Given the description of an element on the screen output the (x, y) to click on. 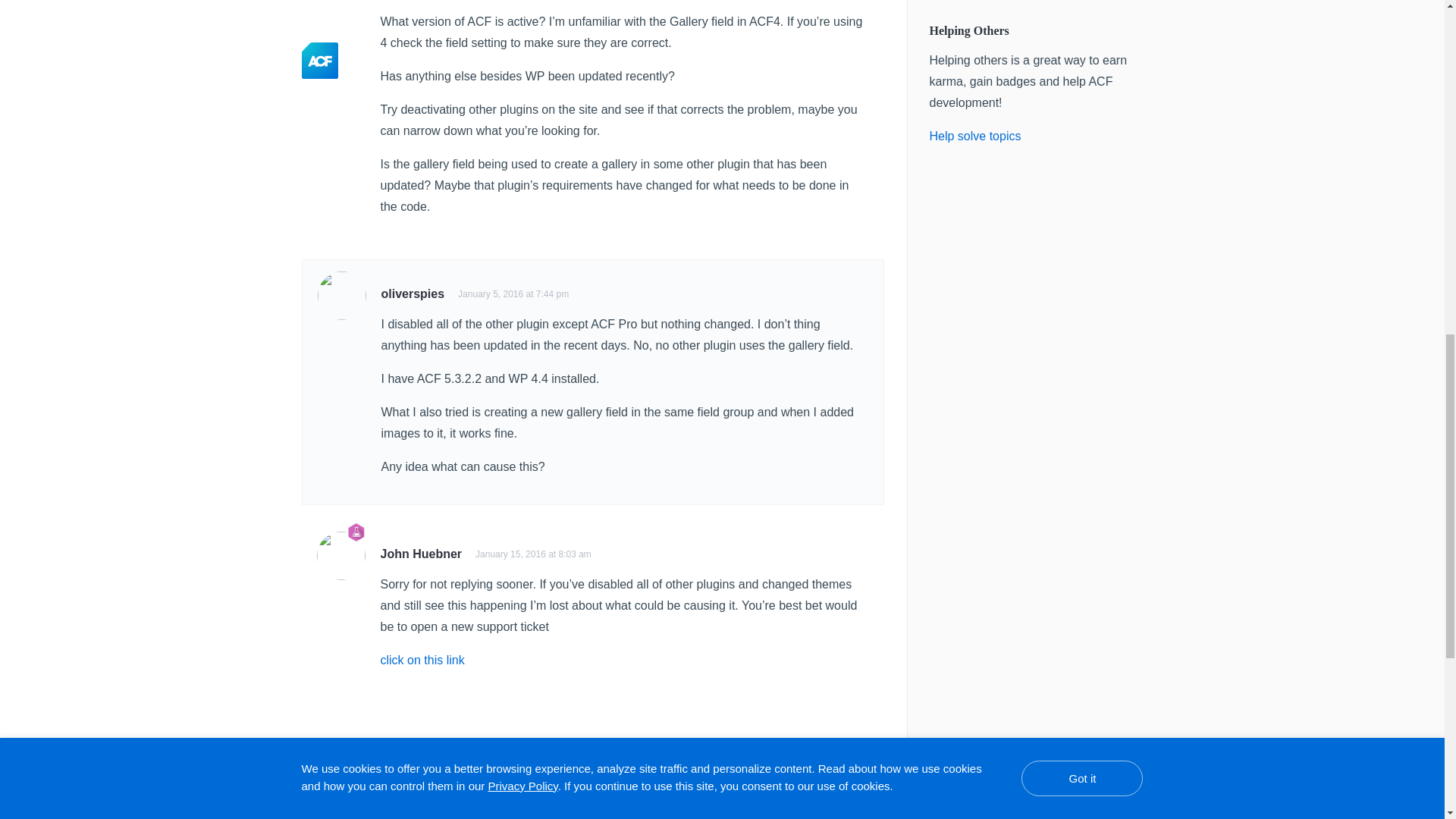
January 15, 2016 at 8:03 am (533, 553)
click on this link (422, 659)
oliverspies (412, 293)
John Huebner (421, 553)
January 5, 2016 at 7:44 pm (513, 294)
Guru (356, 532)
